Given the description of an element on the screen output the (x, y) to click on. 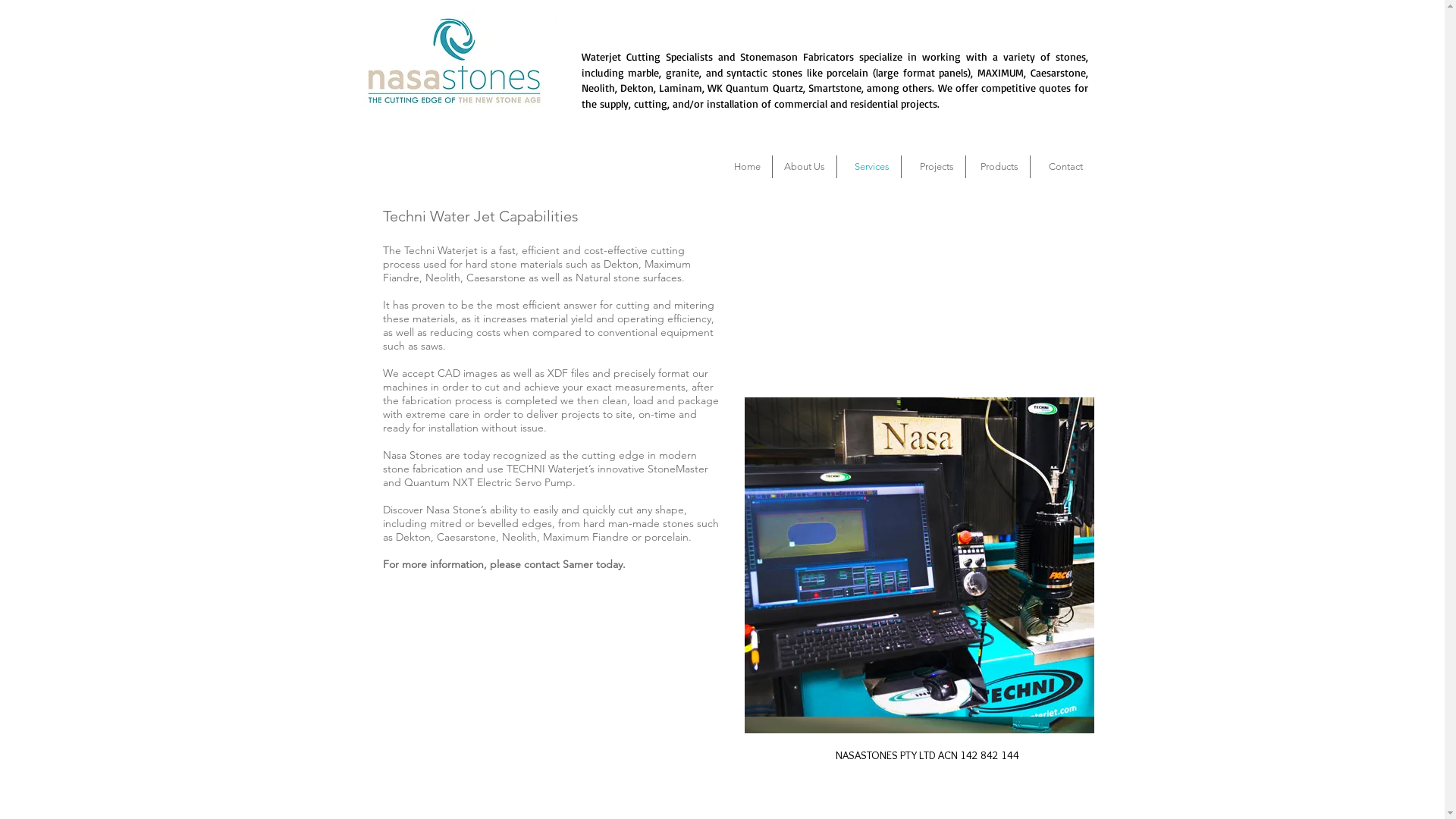
Contact Element type: text (1061, 166)
techni-water-jet-computer-screen.jpg Element type: hover (919, 556)
Home Element type: text (738, 166)
INTEC-waterjet-cutter-machine.jpg Element type: hover (919, 643)
Products Element type: text (997, 166)
Services Element type: text (868, 166)
External YouTube Element type: hover (919, 289)
0 Element type: text (1080, 73)
Nasastones-2-COLOUR-Logo.jpg Element type: hover (453, 61)
About Us Element type: text (803, 166)
Projects Element type: text (932, 166)
